Given the description of an element on the screen output the (x, y) to click on. 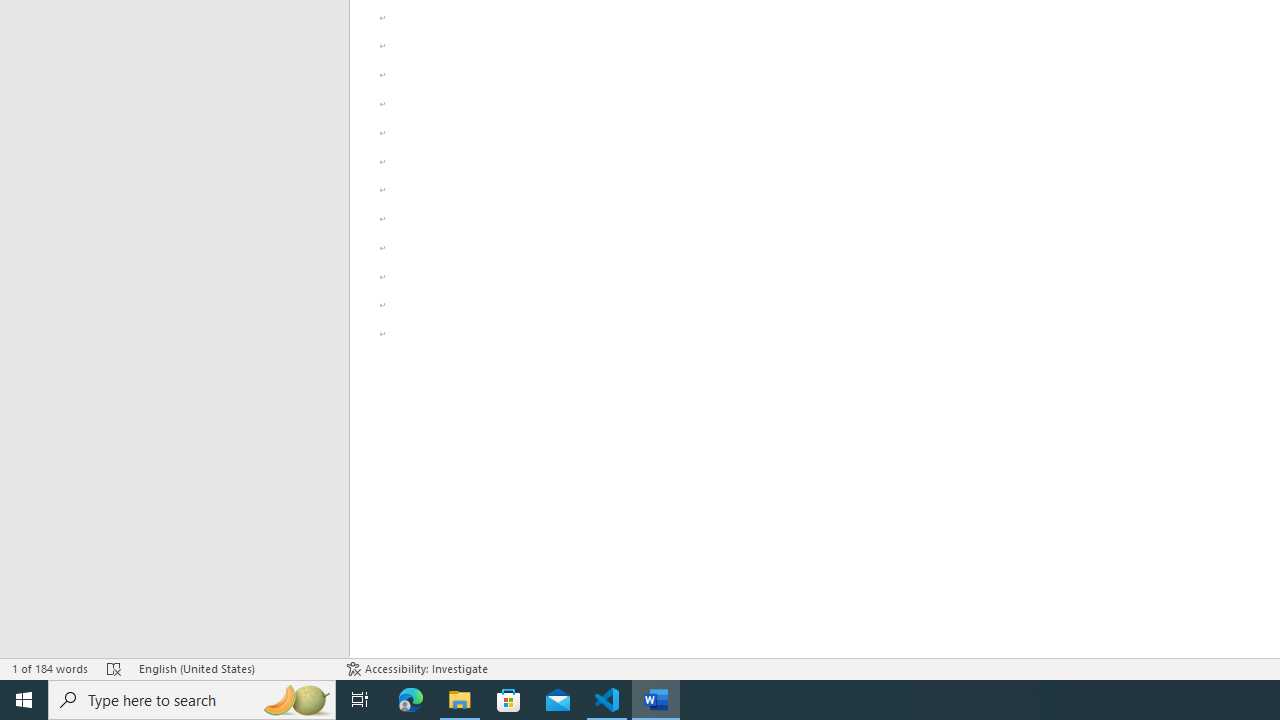
Accessibility Checker Accessibility: Investigate (417, 668)
Spelling and Grammar Check Errors (114, 668)
Language English (United States) (232, 668)
